Given the description of an element on the screen output the (x, y) to click on. 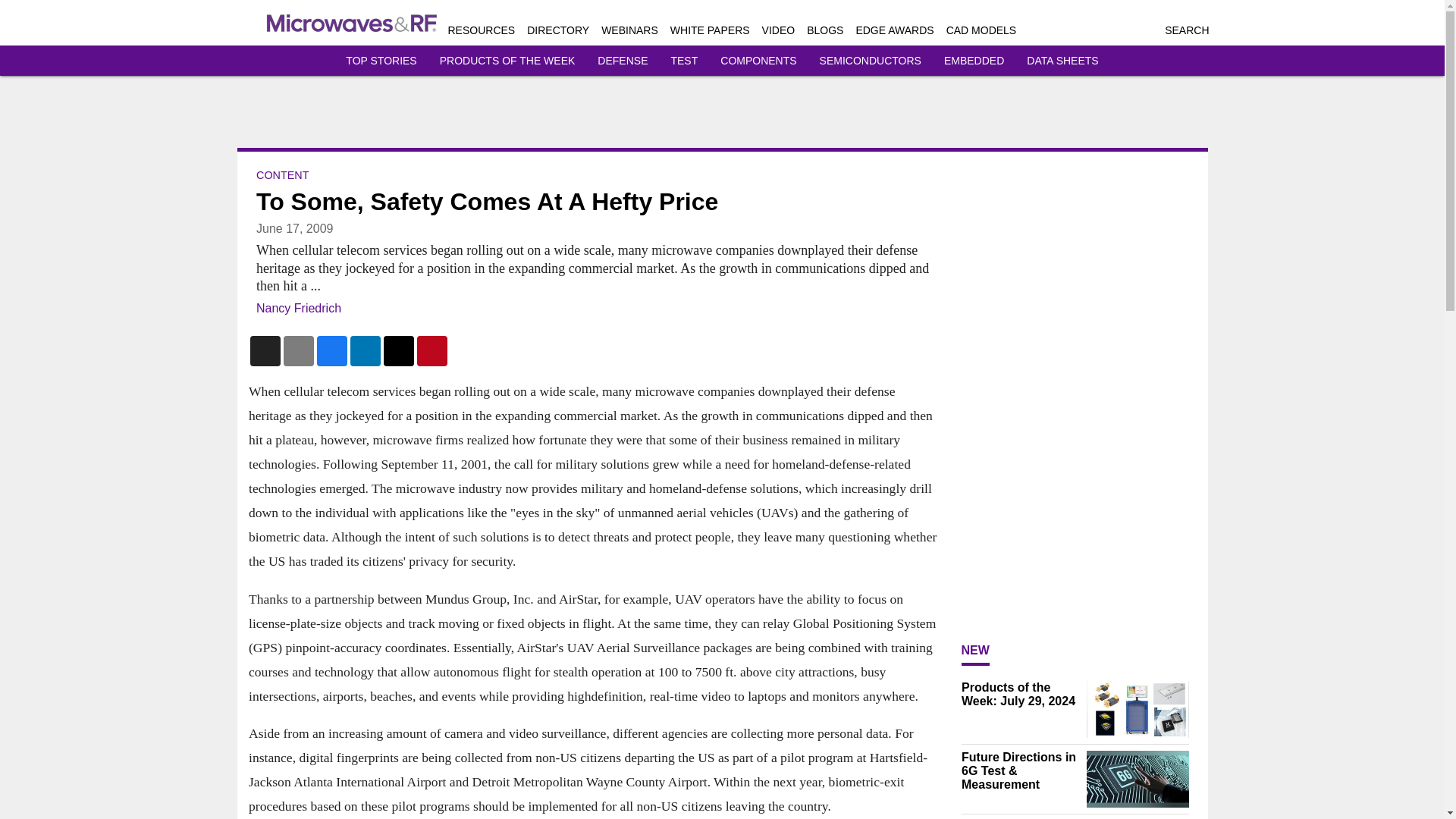
COMPONENTS (758, 60)
Products of the Week: July 29, 2024 (1019, 694)
CONTENT (282, 174)
RESOURCES (480, 30)
DATA SHEETS (1061, 60)
Nancy Friedrich (298, 308)
TOP STORIES (381, 60)
TEST (683, 60)
EMBEDDED (973, 60)
SEMICONDUCTORS (870, 60)
